Given the description of an element on the screen output the (x, y) to click on. 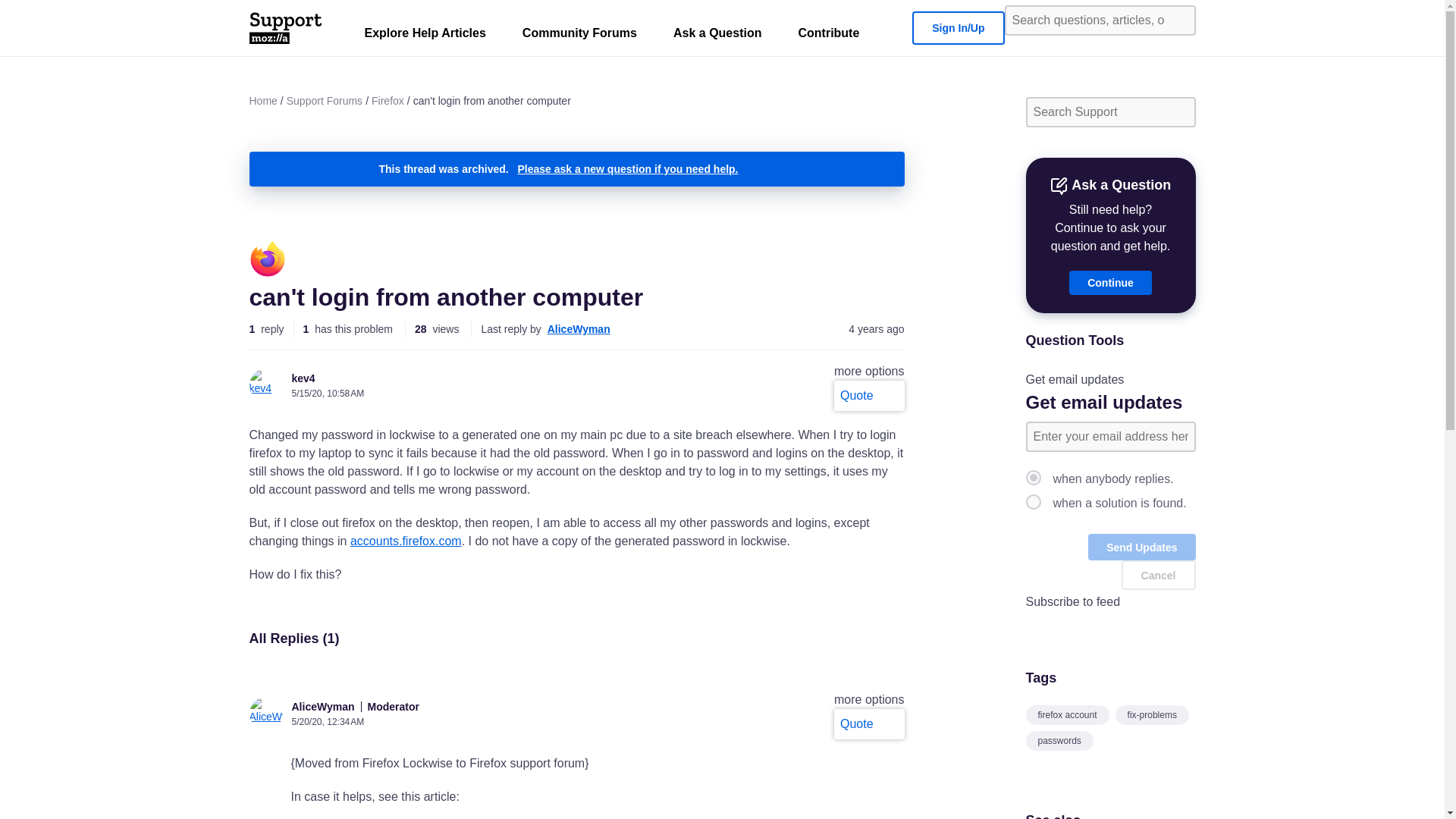
Explore Help Articles (424, 37)
Search (1178, 111)
Community Forums (579, 37)
Ask a Question (716, 37)
Search (1178, 20)
Send Updates (1141, 546)
